Given the description of an element on the screen output the (x, y) to click on. 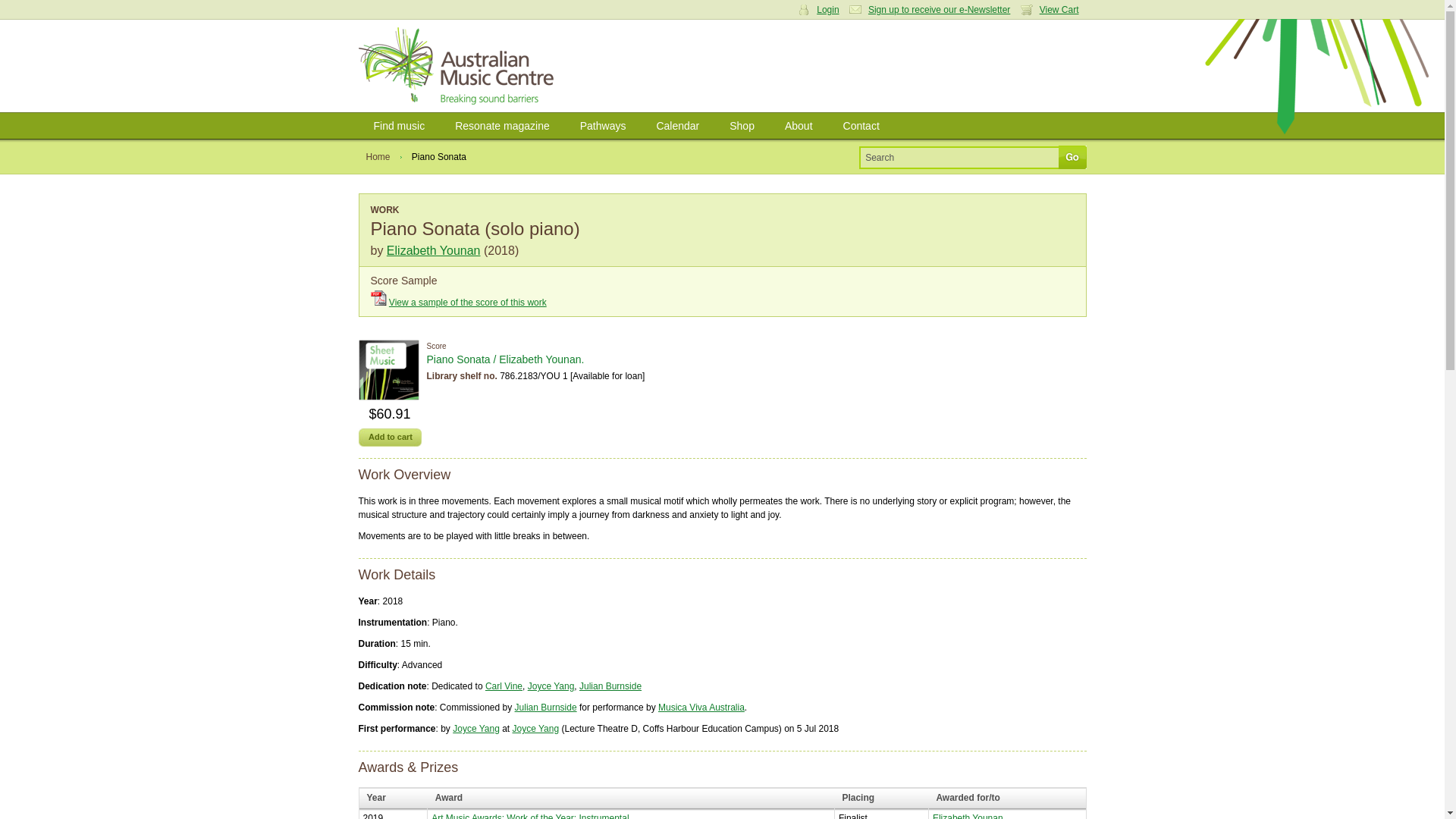
Login (371, 132)
Pathways (603, 125)
Resonate magazine (501, 125)
Resonate magazine (501, 125)
Find music (398, 125)
View Cart (1053, 9)
Sign up to receive our e-Newsletter (932, 9)
Go (1072, 156)
About (799, 125)
Shop (742, 125)
Calendar (677, 125)
Find music (398, 125)
Calendar (677, 125)
Search (960, 156)
Login (821, 9)
